Given the description of an element on the screen output the (x, y) to click on. 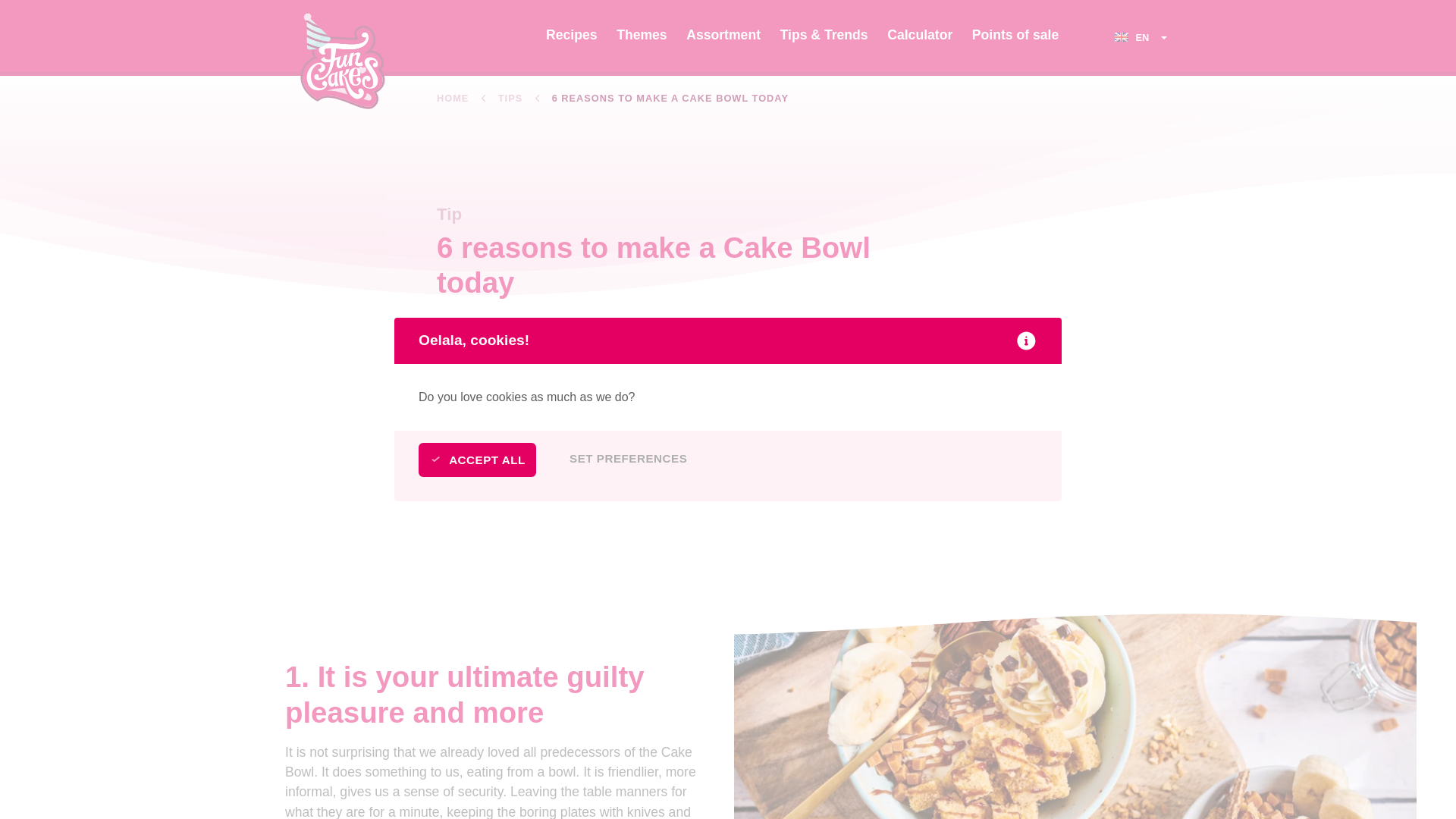
EN (1142, 38)
Assortment (722, 38)
Points of sale (1015, 38)
